Given the description of an element on the screen output the (x, y) to click on. 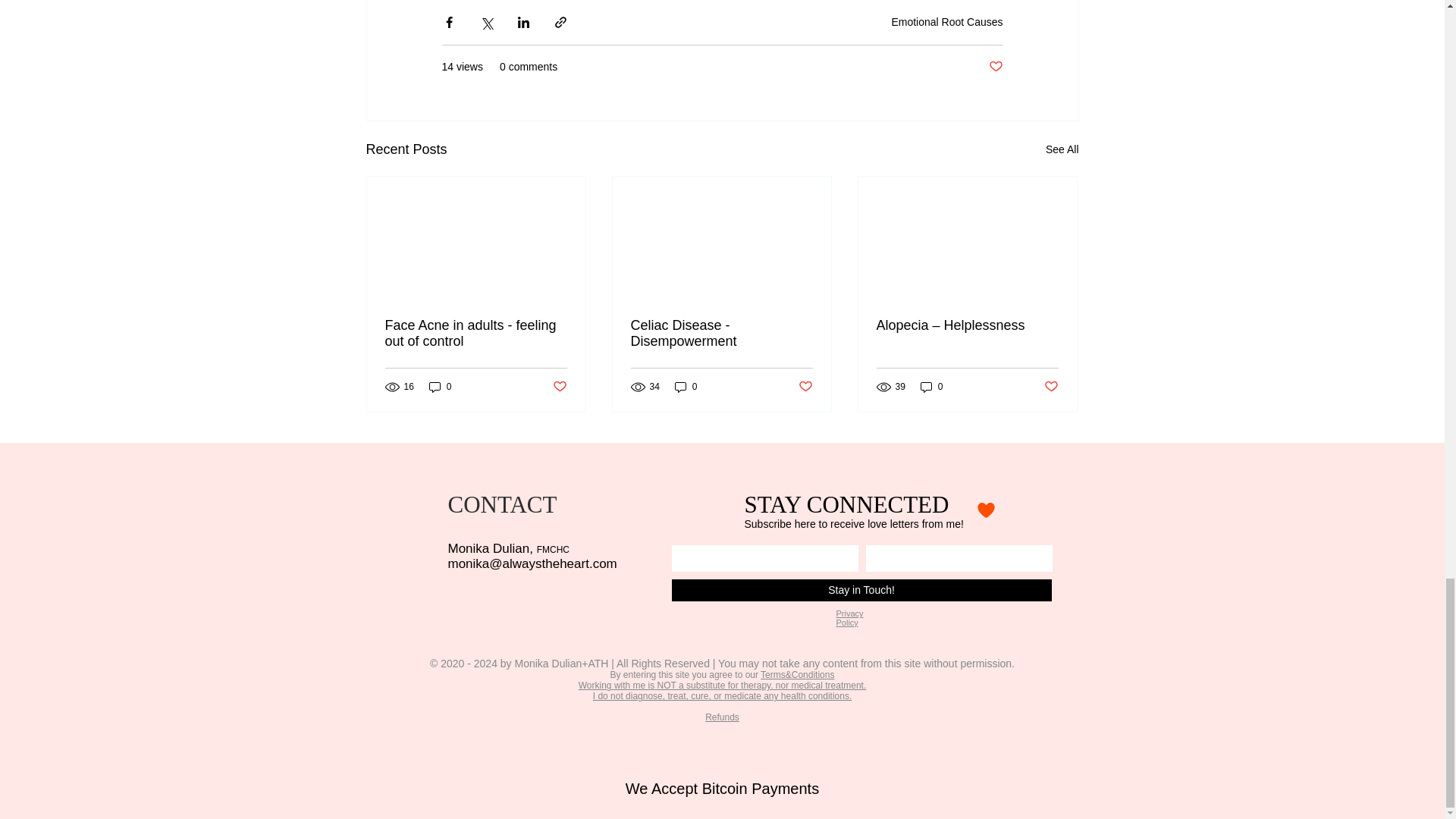
Post not marked as liked (558, 386)
Face Acne in adults - feeling out of control (476, 333)
0 (440, 386)
Post not marked as liked (995, 66)
See All (1061, 149)
Emotional Root Causes (947, 21)
